Given the description of an element on the screen output the (x, y) to click on. 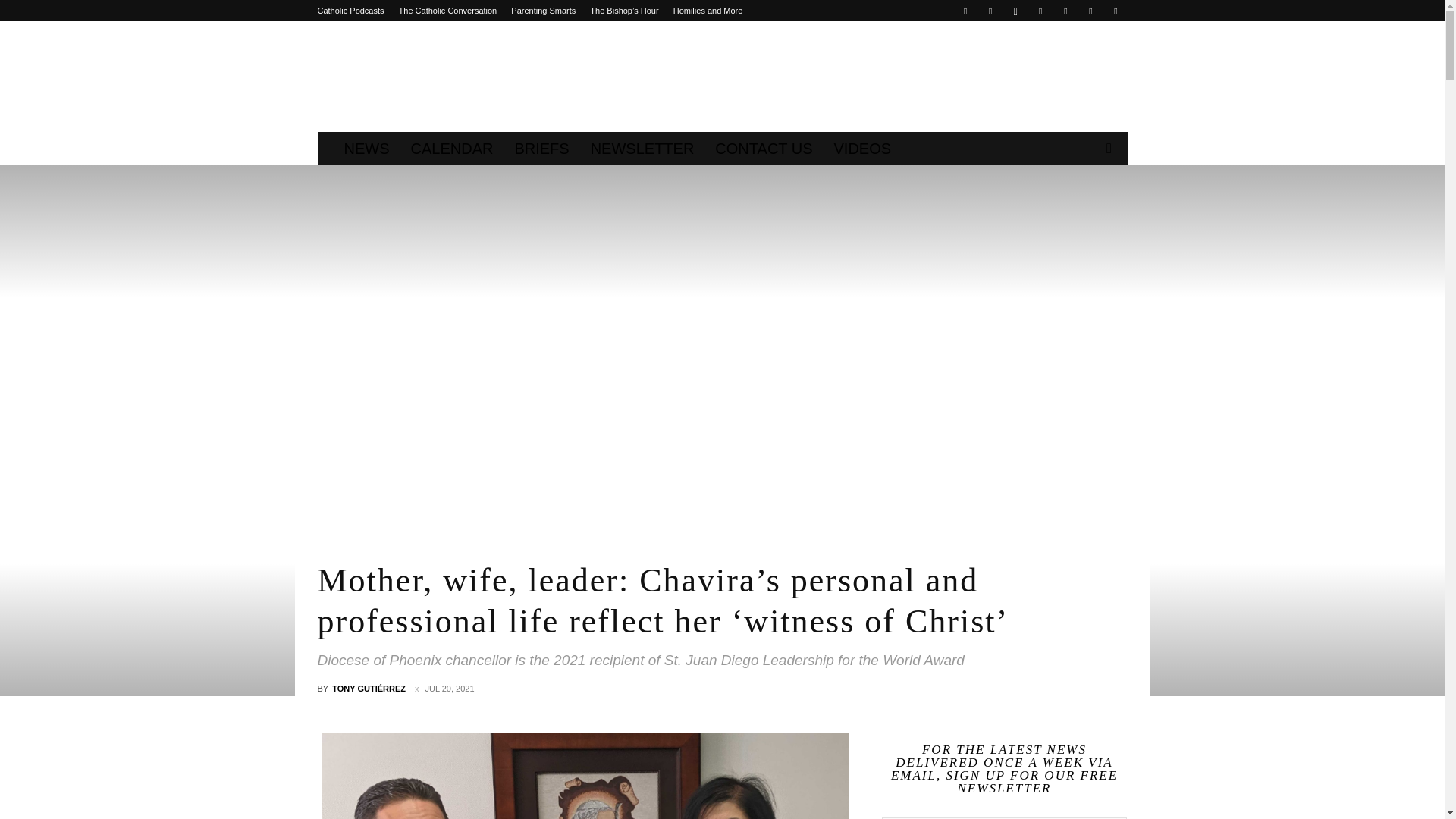
NEWS (366, 148)
Vimeo (1090, 10)
Flickr (989, 10)
Twitter (1065, 10)
Linkedin (1040, 10)
Instagram (1015, 10)
Homilies and More (707, 10)
Parenting Smarts (543, 10)
The Catholic Conversation (447, 10)
Facebook (964, 10)
